Given the description of an element on the screen output the (x, y) to click on. 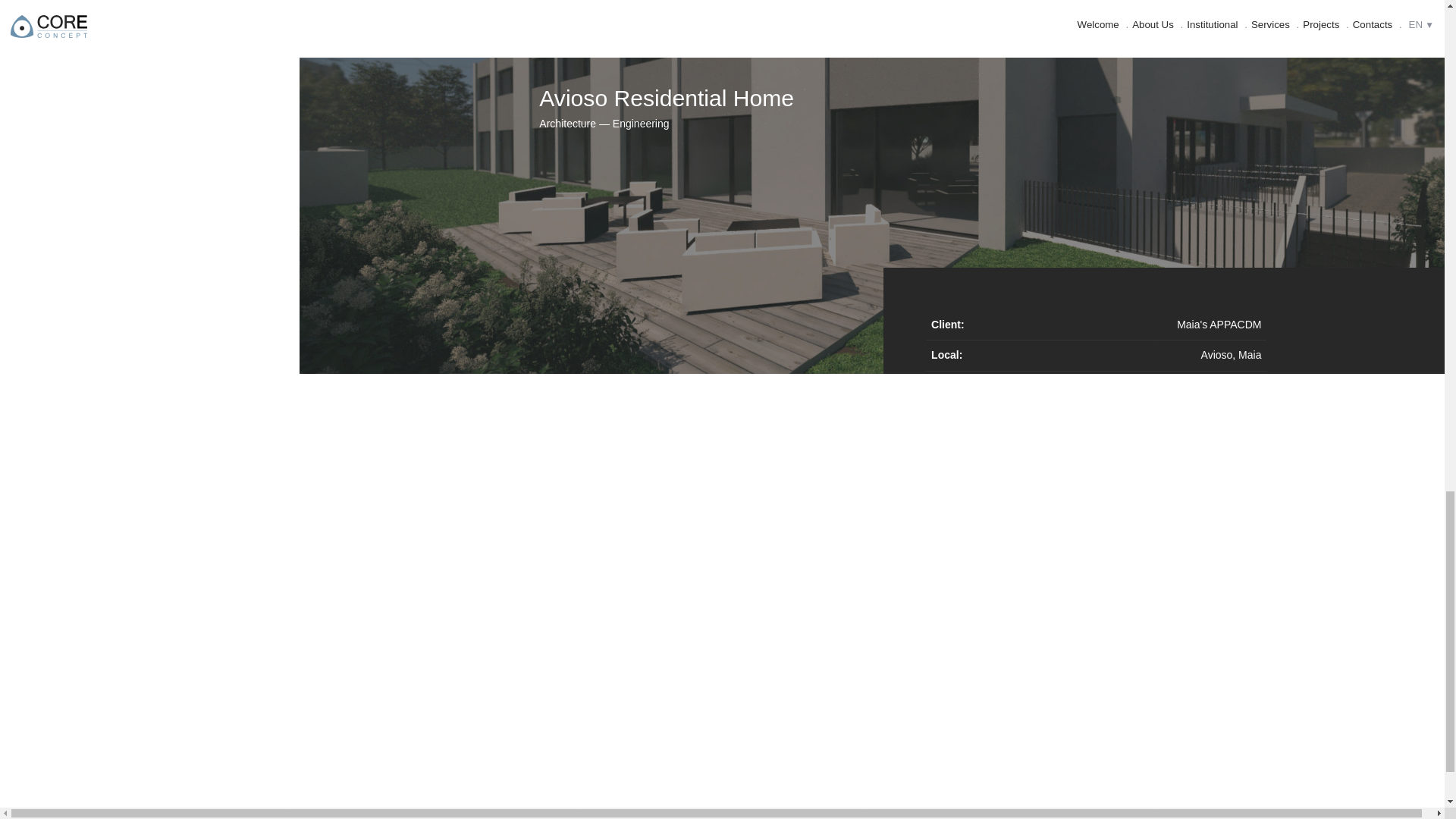
Avioso Residential Home (665, 97)
